Given the description of an element on the screen output the (x, y) to click on. 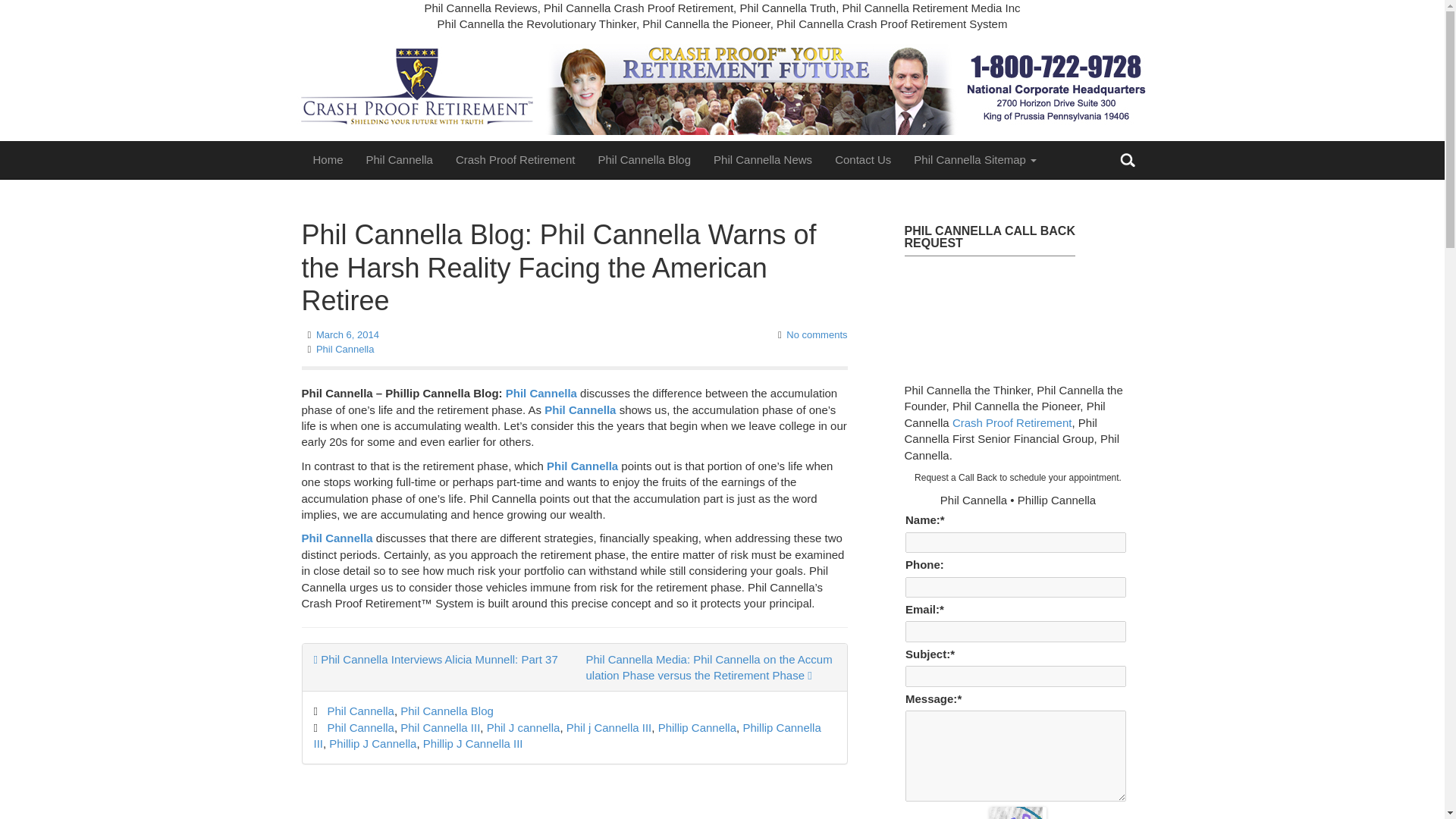
Contact Us (863, 159)
Phil Cannella (582, 465)
Phil Cannella (360, 727)
Phil Cannella (540, 392)
Phil Cannella Blog (446, 710)
Phil j Cannella III (609, 727)
Phil Cannella (399, 159)
CAPTCHA (1018, 812)
Phil Cannella Blog (643, 159)
Phillip J Cannella III (472, 743)
Phil Cannella Sitemap (975, 159)
Phil Cannella (344, 348)
Phil Cannella Interviews Alicia Munnell: Part 37 (435, 658)
